Given the description of an element on the screen output the (x, y) to click on. 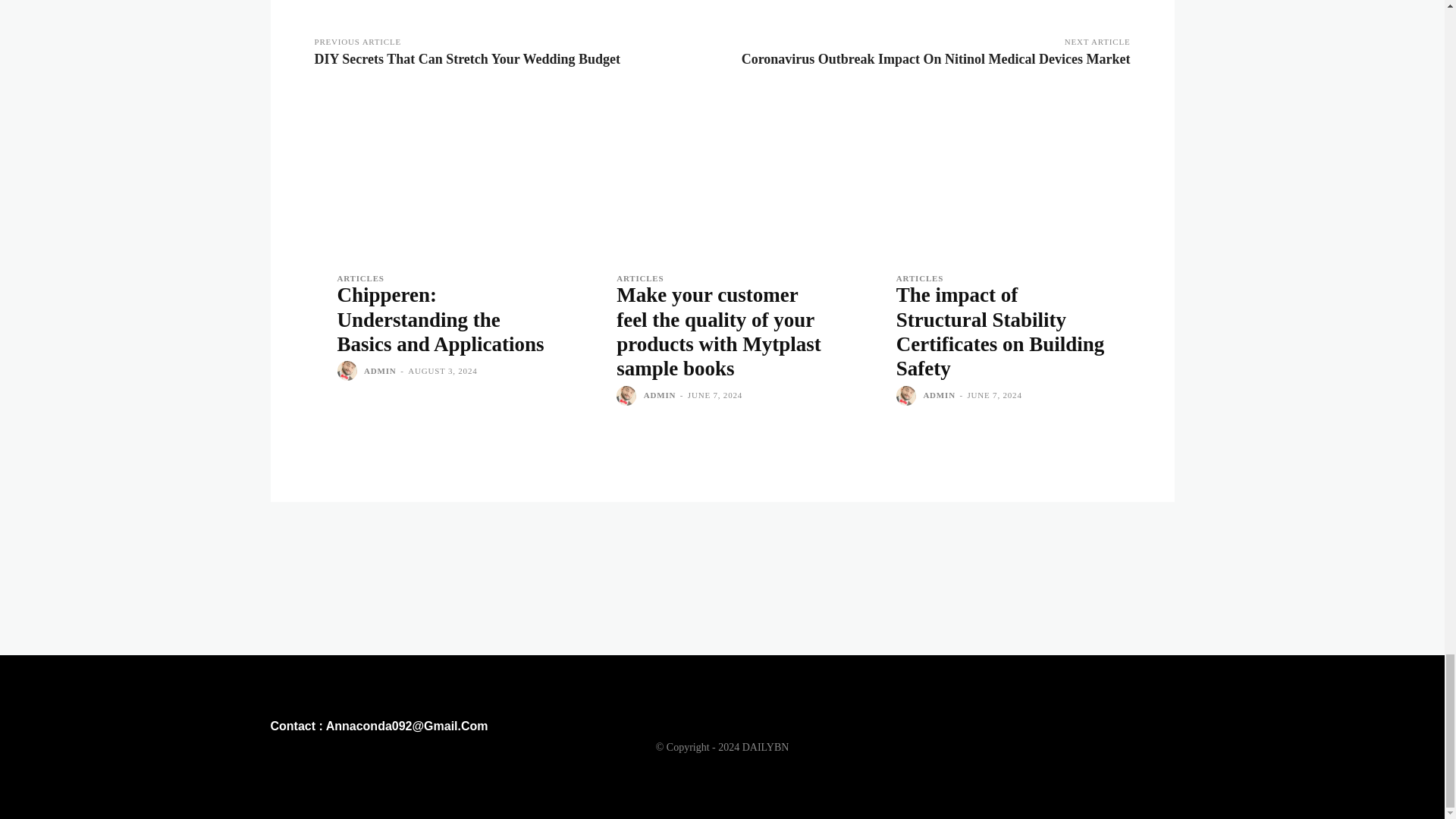
Chipperen: Understanding the Basics and Applications (442, 174)
Chipperen: Understanding the Basics and Applications (439, 319)
